Given the description of an element on the screen output the (x, y) to click on. 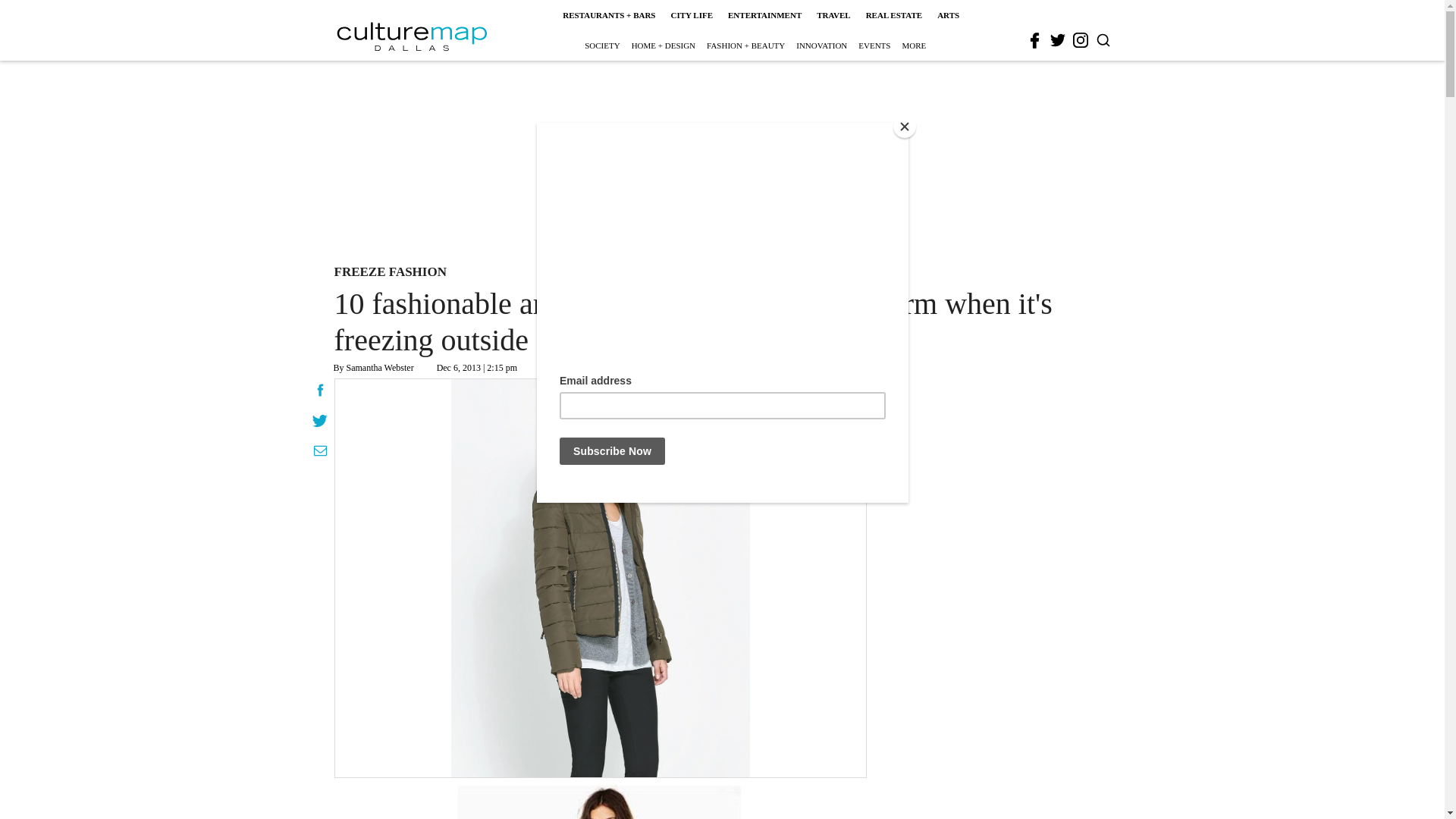
3rd party ad content (721, 160)
